Given the description of an element on the screen output the (x, y) to click on. 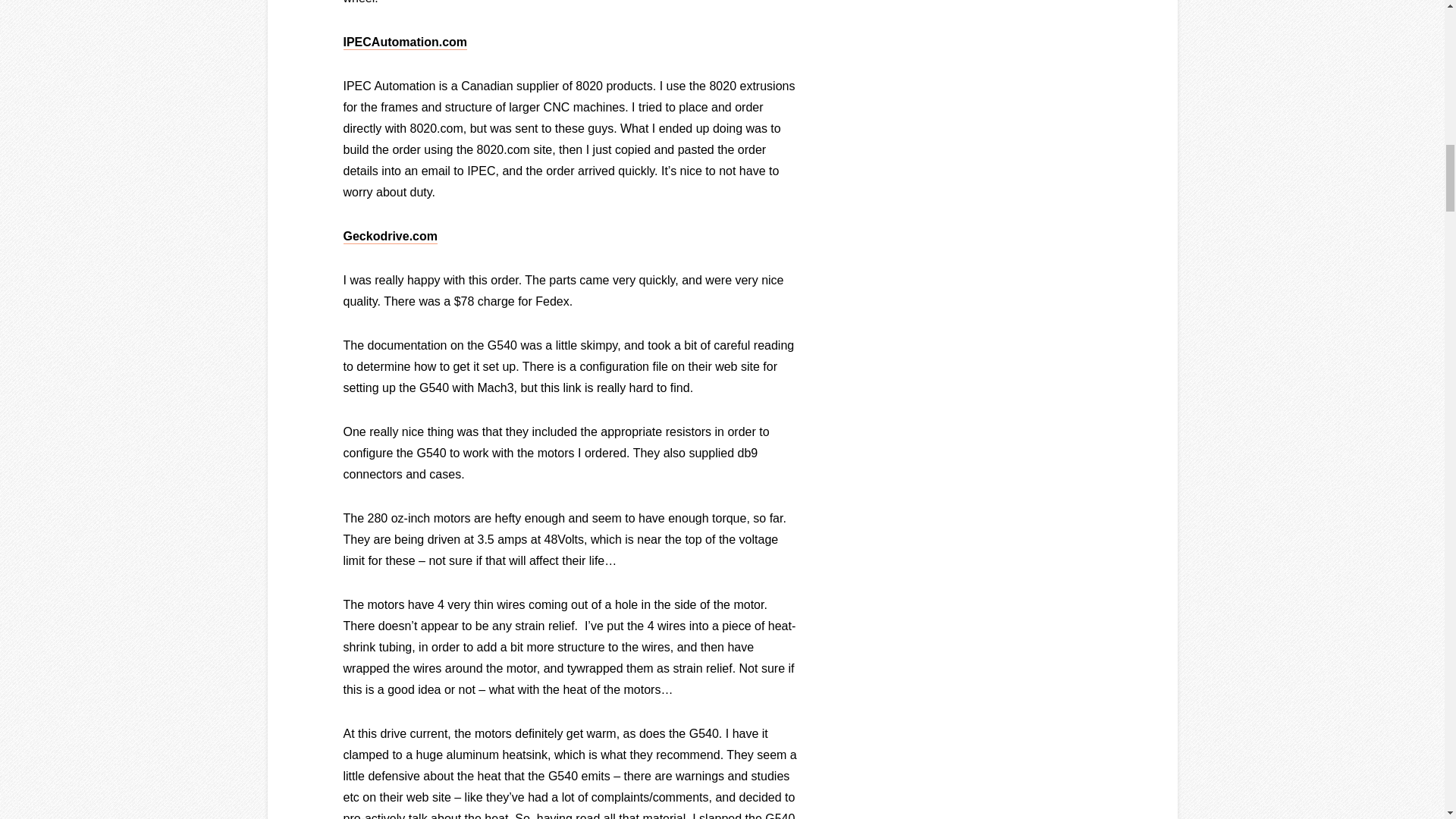
Geckodrive.com (390, 236)
IPECAutomation.com (404, 42)
Gecko Drive (390, 236)
